Given the description of an element on the screen output the (x, y) to click on. 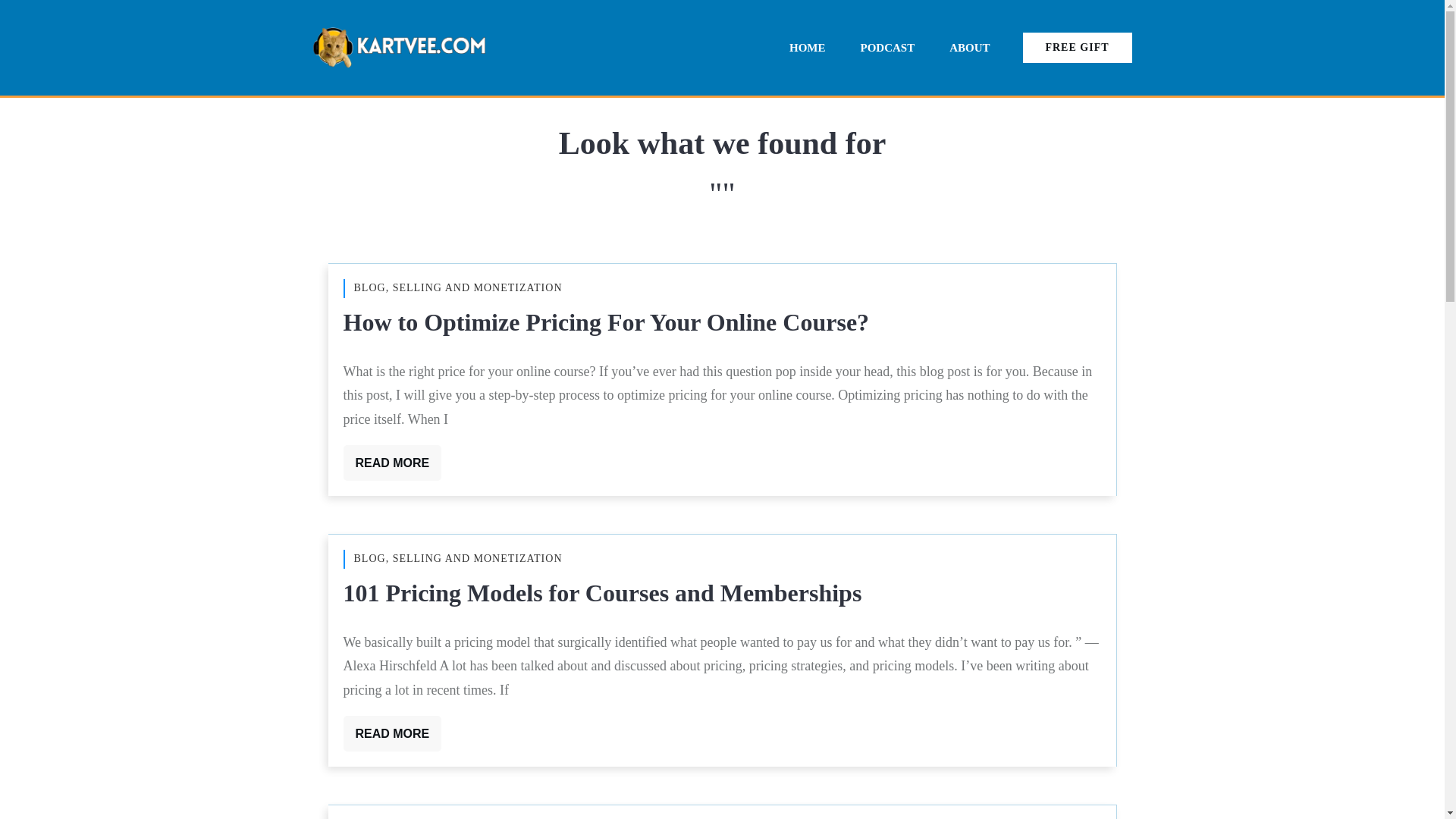
101 Pricing Models for Courses and Memberships (601, 592)
How to Optimize Pricing For Your Online Course? (605, 321)
BLOG (369, 558)
PODCAST (887, 47)
Blog (369, 558)
SELLING AND MONETIZATION (477, 558)
BLOG (369, 287)
FREE GIFT (1076, 47)
HOME (807, 47)
ABOUT (969, 47)
READ MORE (391, 733)
Selling and Monetization (477, 287)
SELLING AND MONETIZATION (477, 287)
Selling and Monetization (477, 558)
How to Optimize Pricing For Your Online Course? (605, 321)
